Given the description of an element on the screen output the (x, y) to click on. 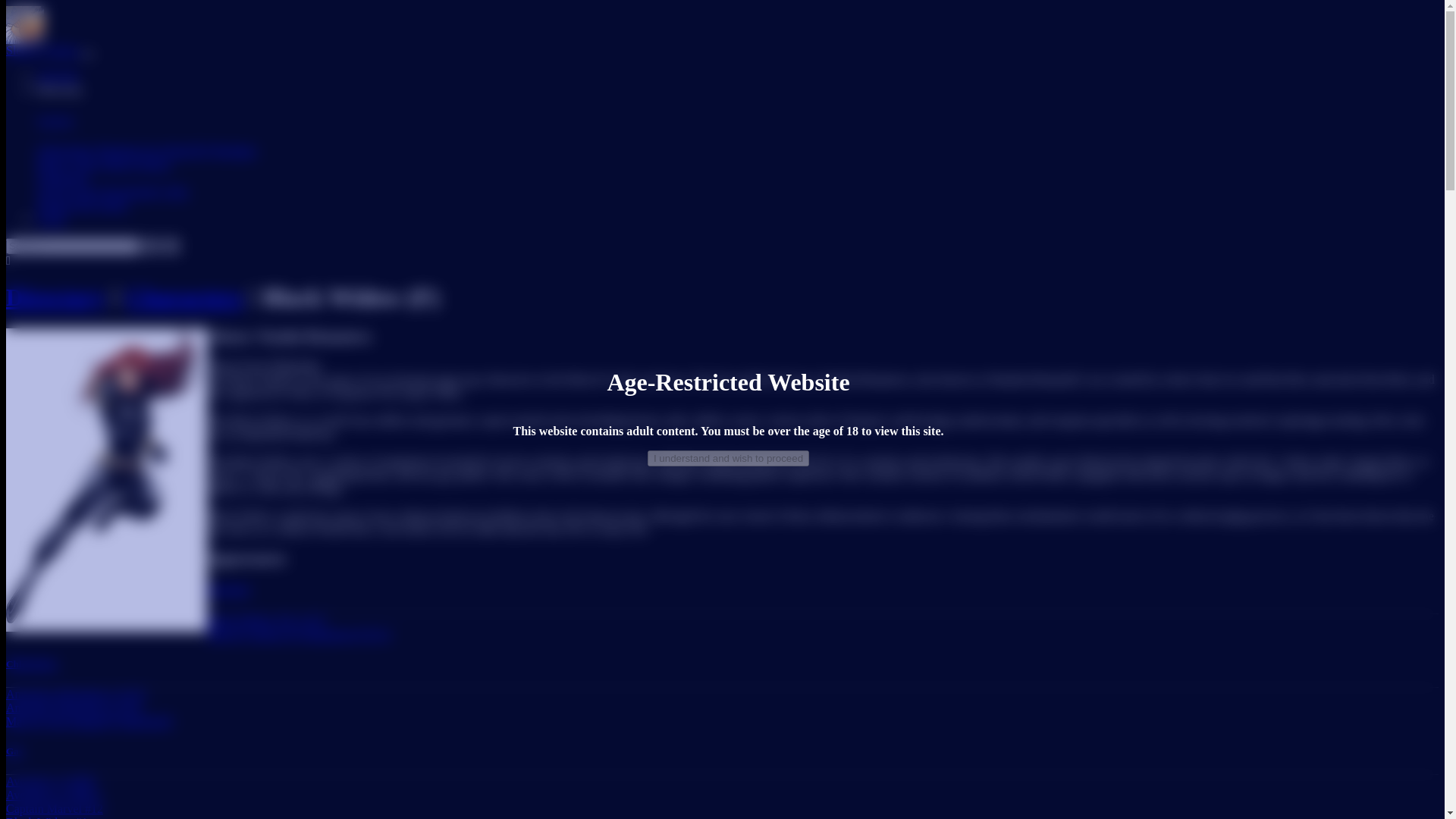
Login (50, 218)
Sleepy Comics (43, 50)
Advanced search settings (7, 260)
Artwork (56, 75)
Sleepy Stories (135, 164)
Active Users (67, 191)
Gas (14, 750)
Knockout (227, 589)
Random (171, 245)
Chloroform (65, 150)
Support My Work! (82, 205)
Search (151, 245)
Characters (184, 297)
Links (173, 191)
Downloads (129, 191)
